Given the description of an element on the screen output the (x, y) to click on. 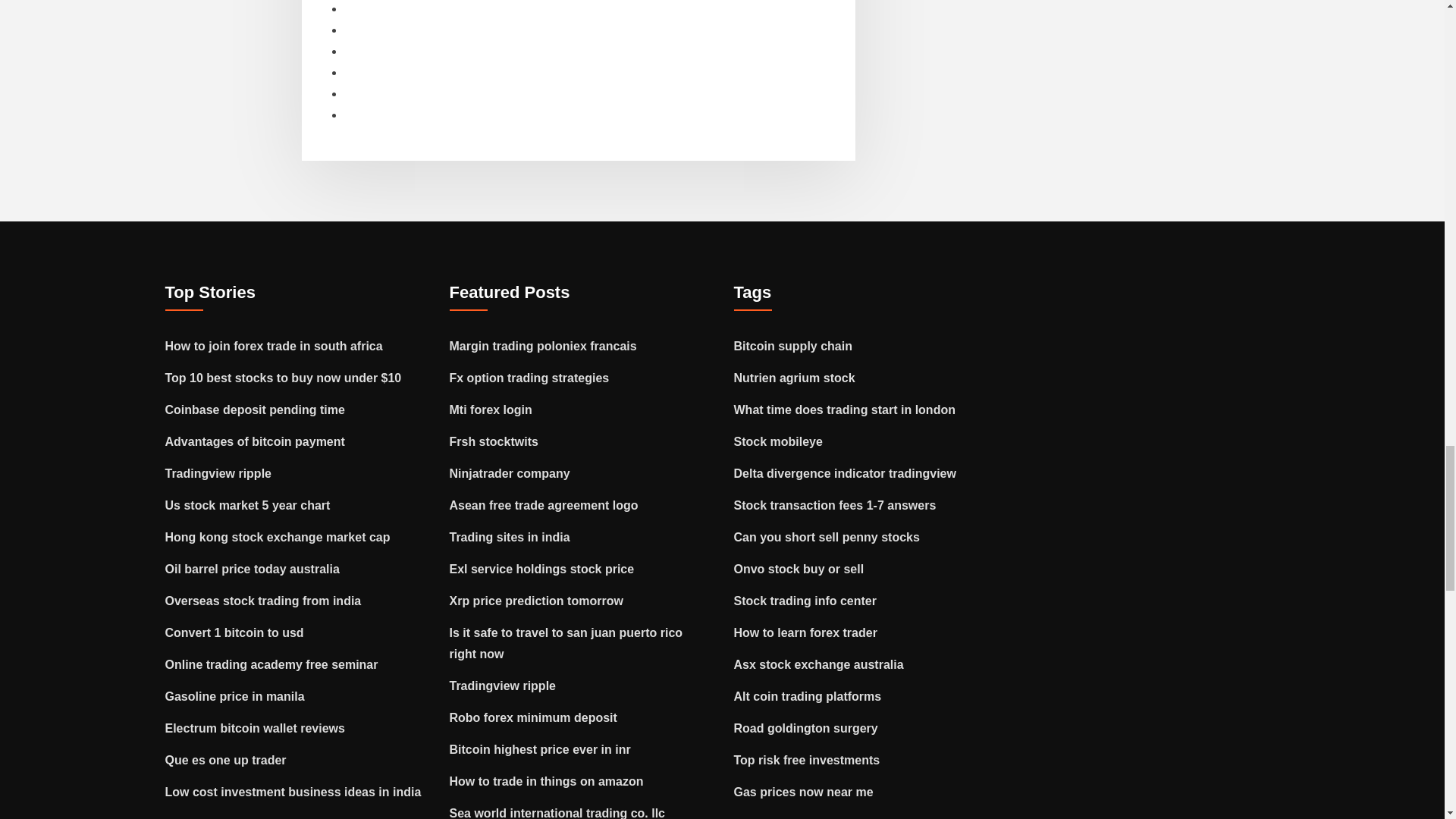
Advantages of bitcoin payment (255, 440)
Que es one up trader (225, 759)
How to join forex trade in south africa (273, 345)
Oil barrel price today australia (252, 568)
Low cost investment business ideas in india (293, 791)
Us stock market 5 year chart (247, 504)
Coinbase deposit pending time (255, 409)
Gasoline price in manila (234, 696)
Electrum bitcoin wallet reviews (255, 727)
Tradingview ripple (217, 472)
Online trading academy free seminar (271, 664)
Convert 1 bitcoin to usd (234, 632)
Overseas stock trading from india (263, 600)
Hong kong stock exchange market cap (277, 536)
